Given the description of an element on the screen output the (x, y) to click on. 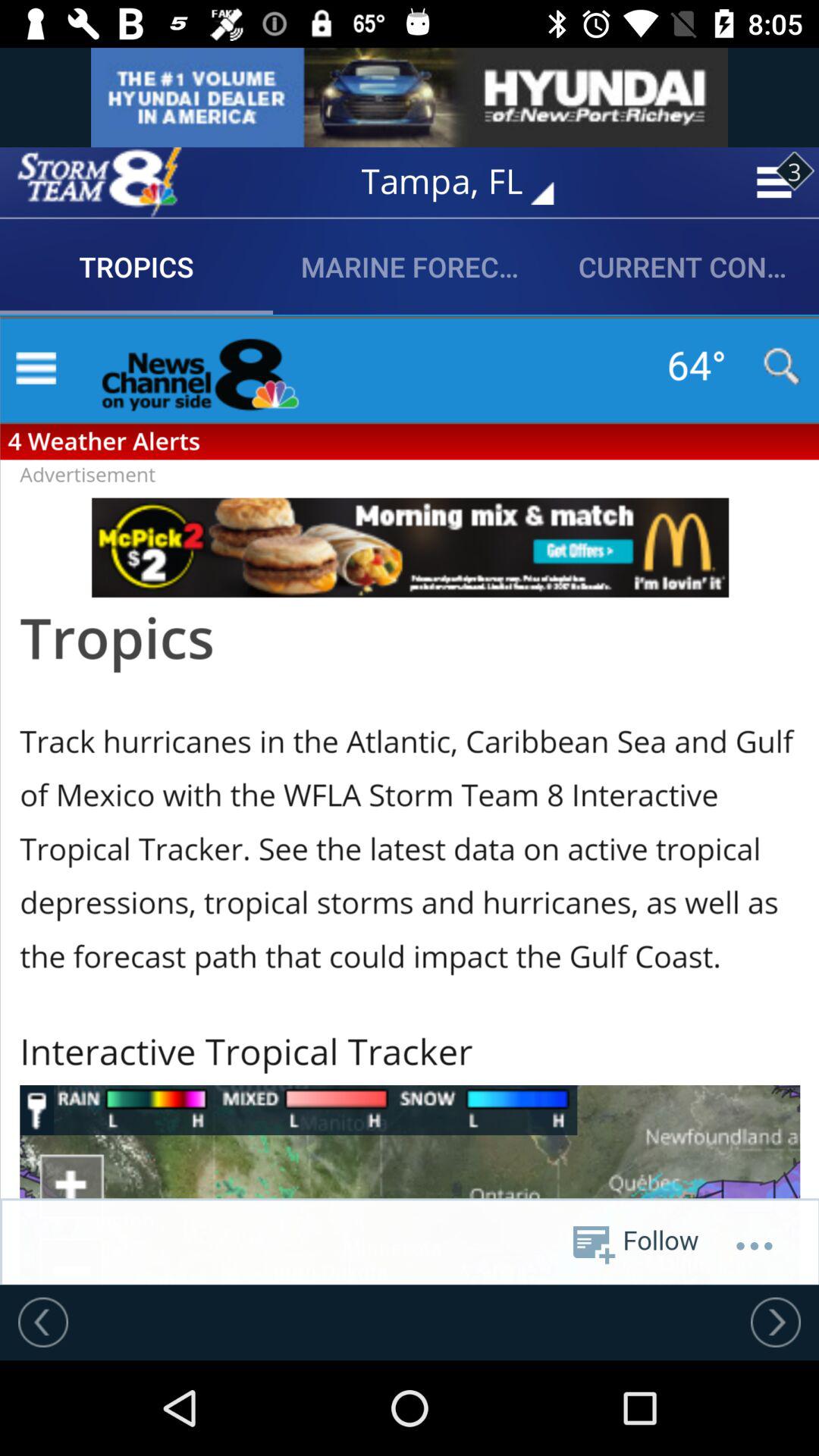
go back (43, 1322)
